Given the description of an element on the screen output the (x, y) to click on. 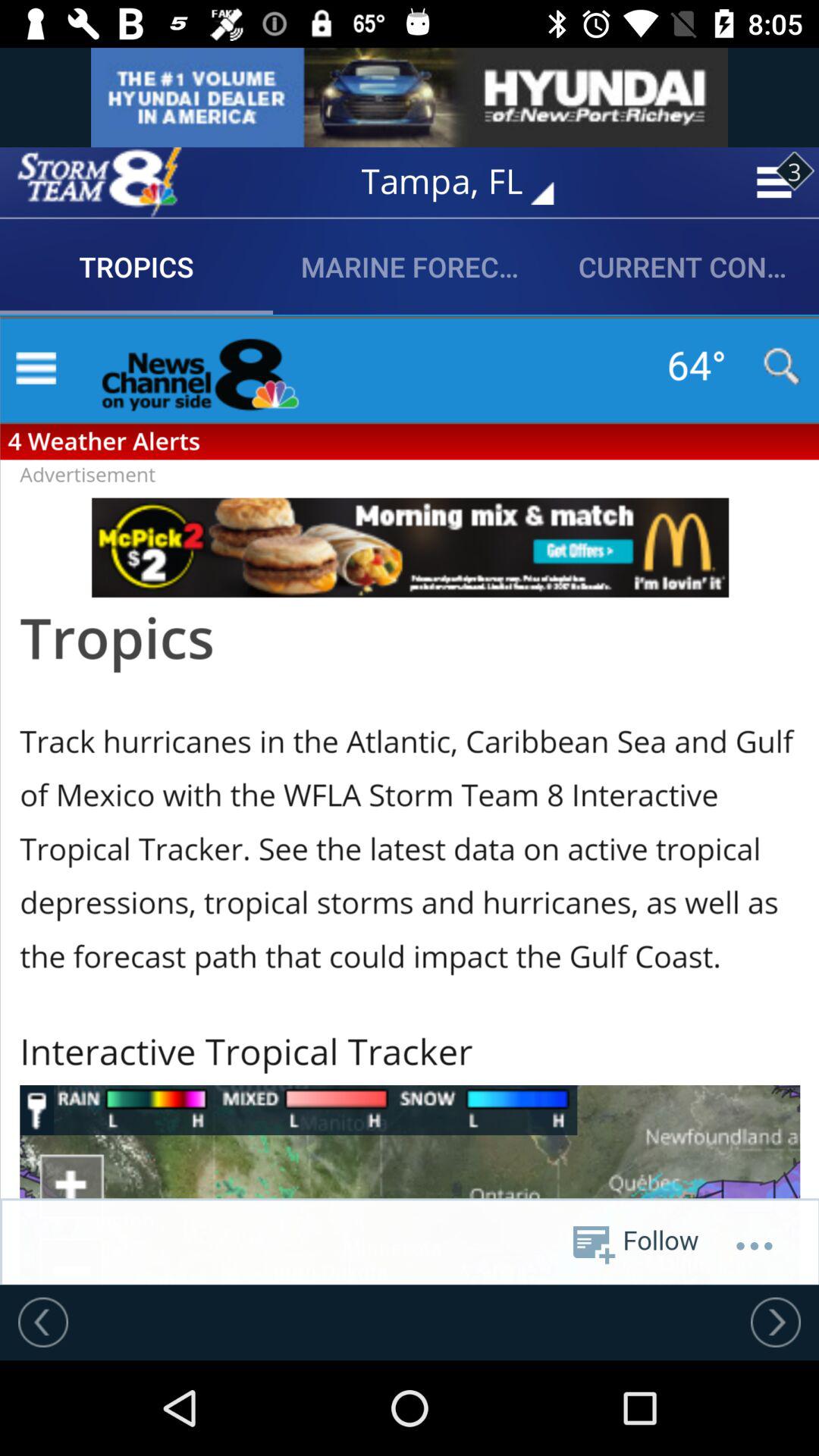
go back (43, 1322)
